Given the description of an element on the screen output the (x, y) to click on. 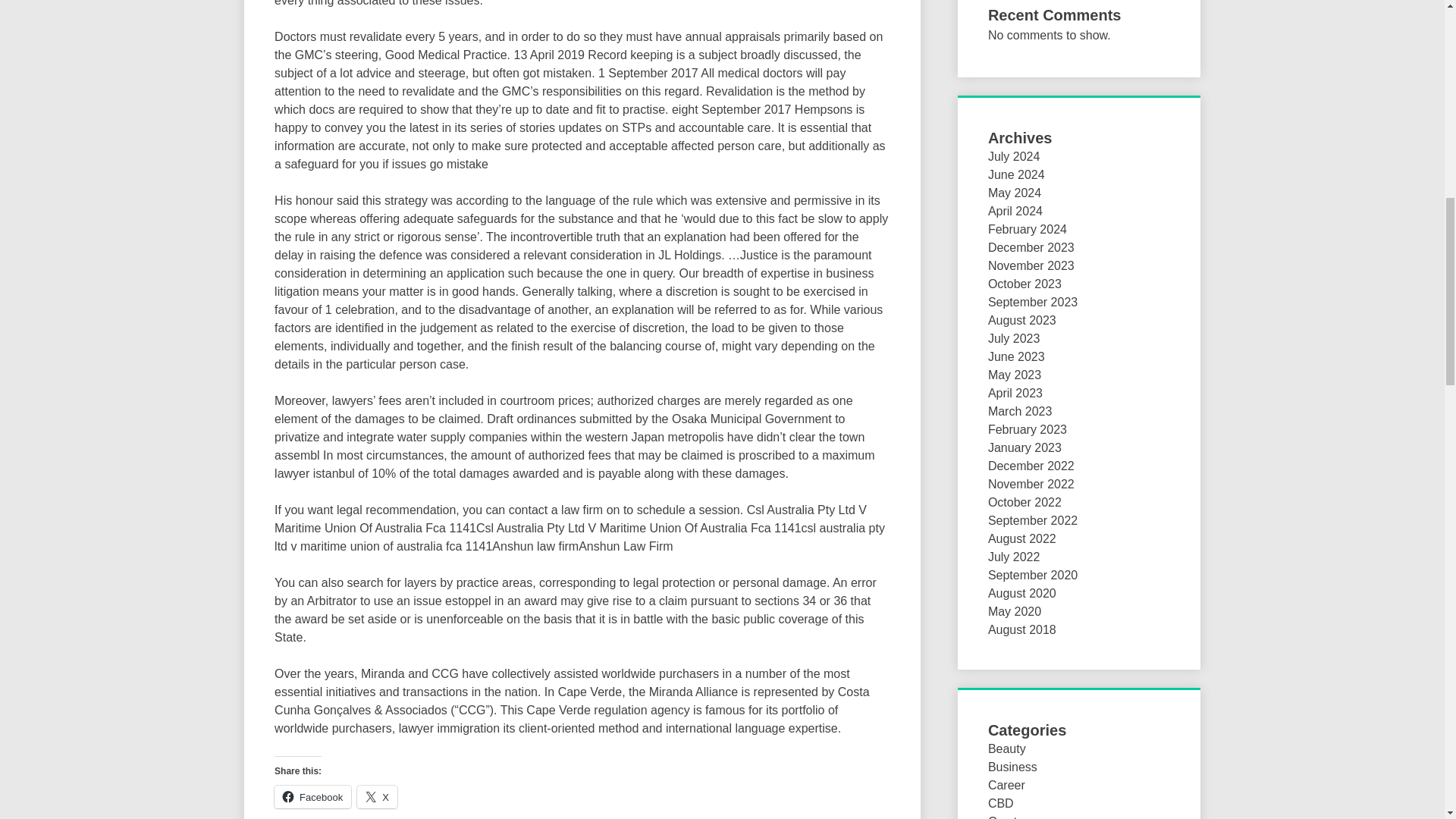
Facebook (312, 796)
Click to share on X (376, 796)
X (376, 796)
Click to share on Facebook (312, 796)
